Given the description of an element on the screen output the (x, y) to click on. 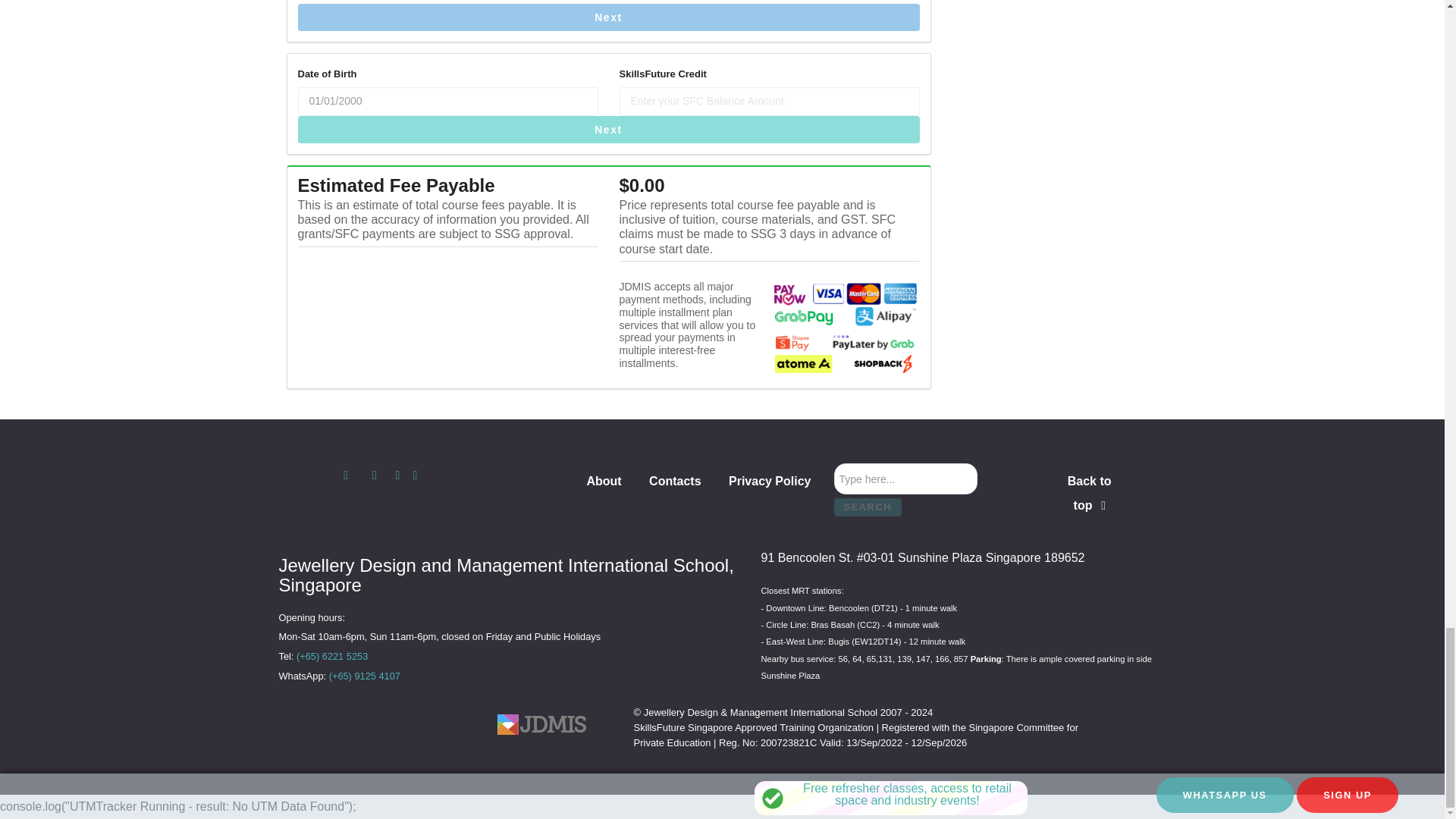
Back to top (1089, 493)
Privacy Policy (769, 484)
Jewellery Design And Management International School - Logo (554, 724)
About (603, 484)
Contacts (674, 484)
